Given the description of an element on the screen output the (x, y) to click on. 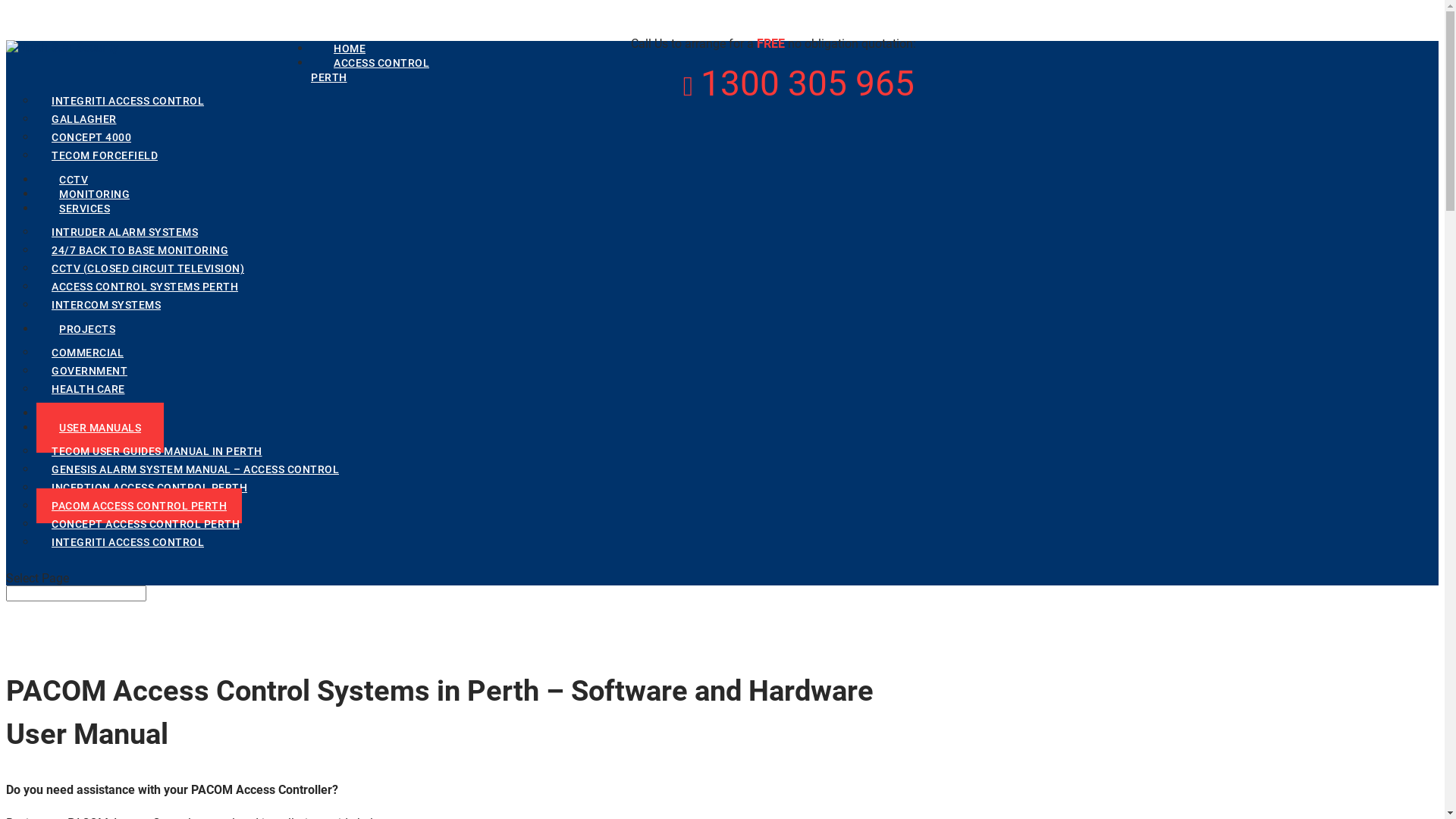
PROJECTS Element type: text (87, 329)
CONTACT US Element type: text (92, 413)
PACOM ACCESS CONTROL PERTH Element type: text (138, 505)
TECOM FORCEFIELD Element type: text (104, 155)
CONCEPT 4000 Element type: text (91, 136)
INTEGRITI ACCESS CONTROL Element type: text (127, 541)
CCTV Element type: text (73, 179)
HOME Element type: text (349, 48)
CONCEPT ACCESS CONTROL PERTH Element type: text (145, 523)
GALLAGHER Element type: text (83, 118)
TECOM USER GUIDES MANUAL IN PERTH Element type: text (156, 450)
INTEGRITI ACCESS CONTROL Element type: text (127, 100)
HEALTH CARE Element type: text (88, 388)
ACCESS CONTROL SYSTEMS PERTH Element type: text (144, 286)
INCEPTION ACCESS CONTROL PERTH Element type: text (149, 487)
GOVERNMENT Element type: text (89, 370)
ACCESS CONTROL PERTH Element type: text (369, 69)
INTERCOM SYSTEMS Element type: text (105, 304)
COMMERCIAL Element type: text (87, 352)
MONITORING Element type: text (94, 194)
INTRUDER ALARM SYSTEMS Element type: text (124, 231)
CCTV (CLOSED CIRCUIT TELEVISION) Element type: text (147, 268)
24/7 BACK TO BASE MONITORING Element type: text (139, 249)
SERVICES Element type: text (84, 208)
USER MANUALS Element type: text (99, 427)
Search for: Element type: hover (76, 593)
